Given the description of an element on the screen output the (x, y) to click on. 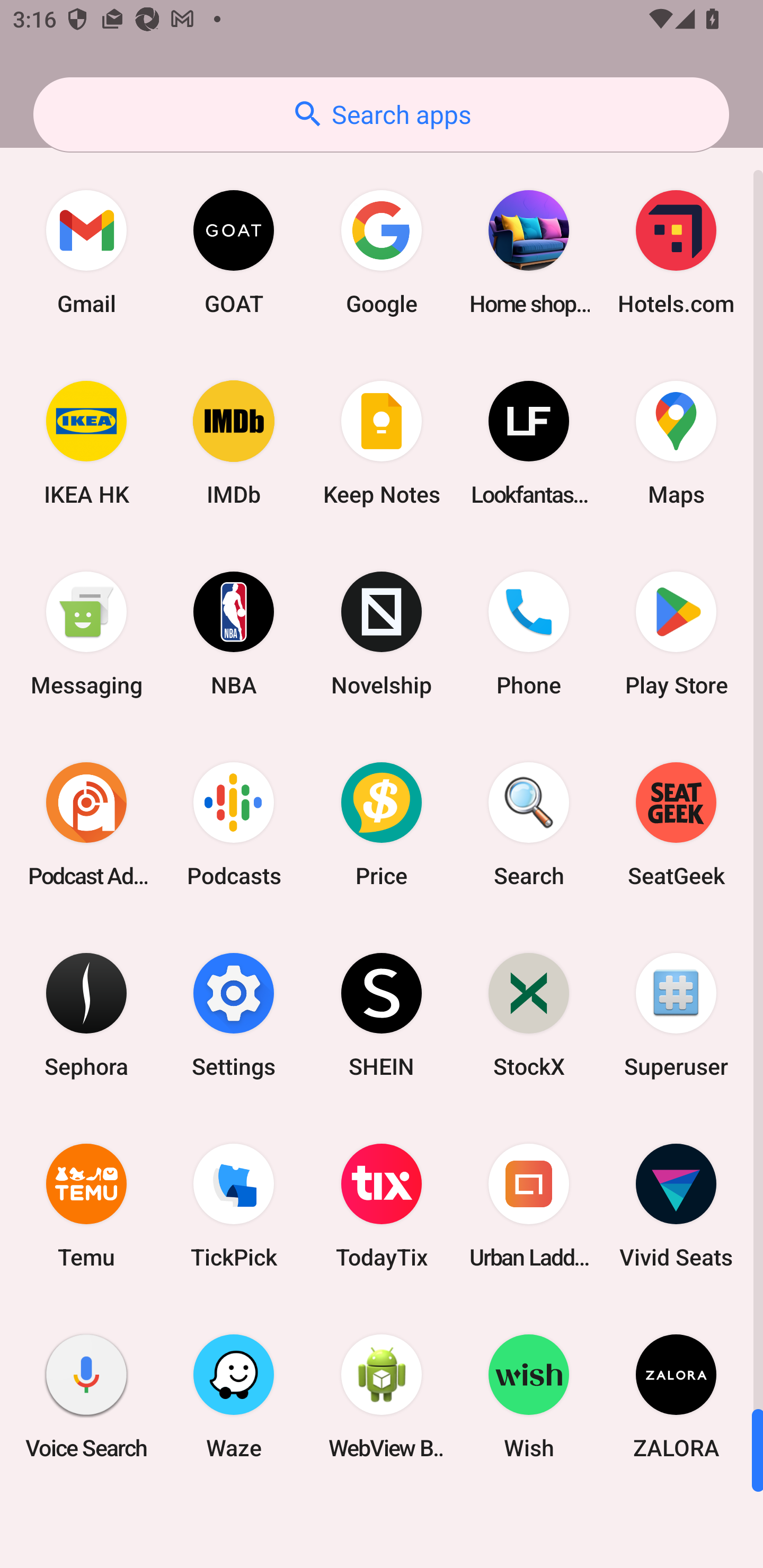
  Search apps (381, 114)
Gmail (86, 252)
GOAT (233, 252)
Google (381, 252)
Home shopping (528, 252)
Hotels.com (676, 252)
IKEA HK (86, 442)
IMDb (233, 442)
Keep Notes (381, 442)
Lookfantastic (528, 442)
Maps (676, 442)
Messaging (86, 633)
NBA (233, 633)
Novelship (381, 633)
Phone (528, 633)
Play Store (676, 633)
Podcast Addict (86, 823)
Podcasts (233, 823)
Price (381, 823)
Search (528, 823)
SeatGeek (676, 823)
Sephora (86, 1014)
Settings (233, 1014)
SHEIN (381, 1014)
StockX (528, 1014)
Superuser (676, 1014)
Temu (86, 1205)
TickPick (233, 1205)
TodayTix (381, 1205)
Urban Ladder (528, 1205)
Vivid Seats (676, 1205)
Voice Search (86, 1396)
Waze (233, 1396)
WebView Browser Tester (381, 1396)
Wish (528, 1396)
ZALORA (676, 1396)
